Given the description of an element on the screen output the (x, y) to click on. 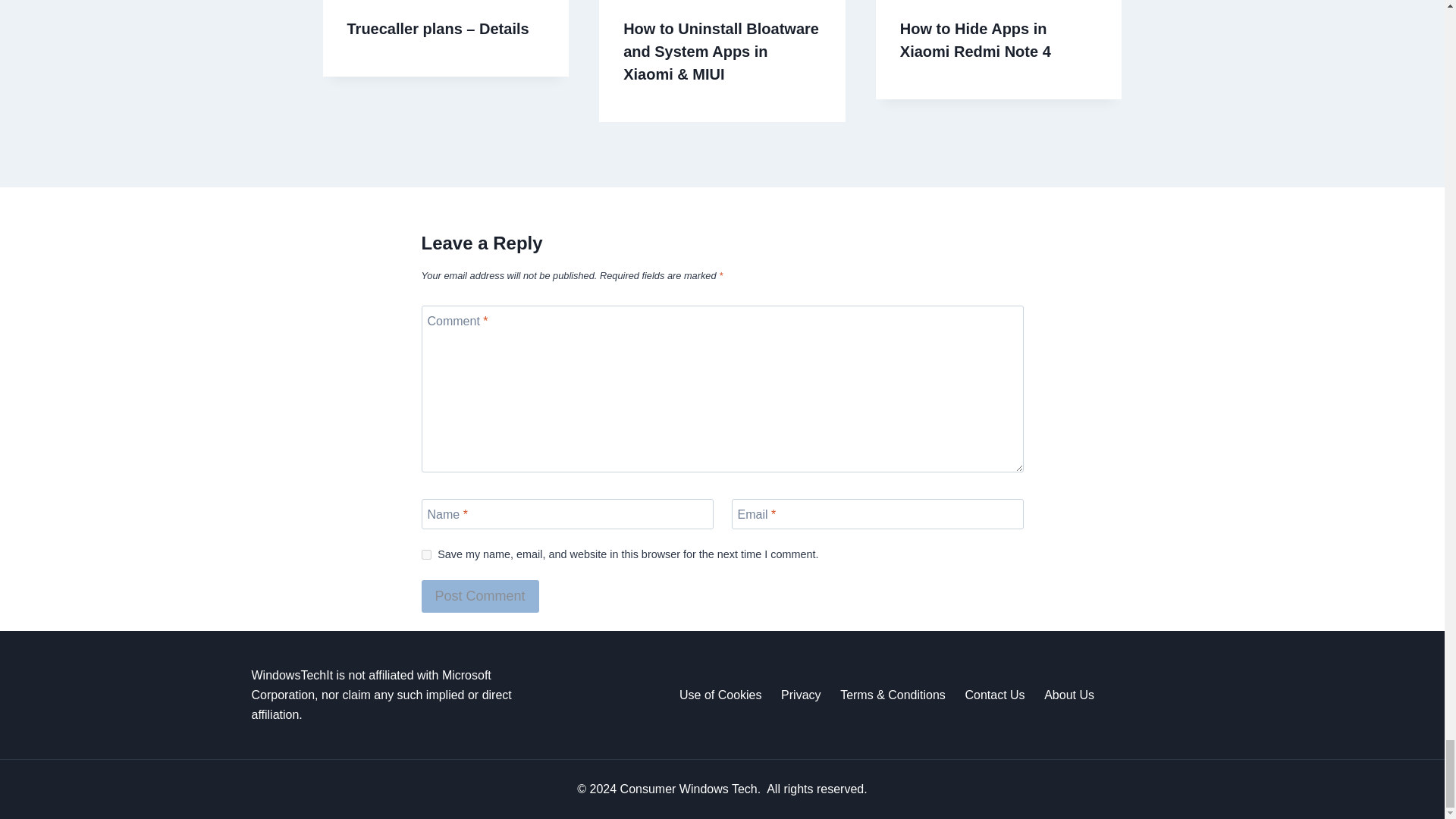
Post Comment (480, 595)
yes (426, 554)
